Given the description of an element on the screen output the (x, y) to click on. 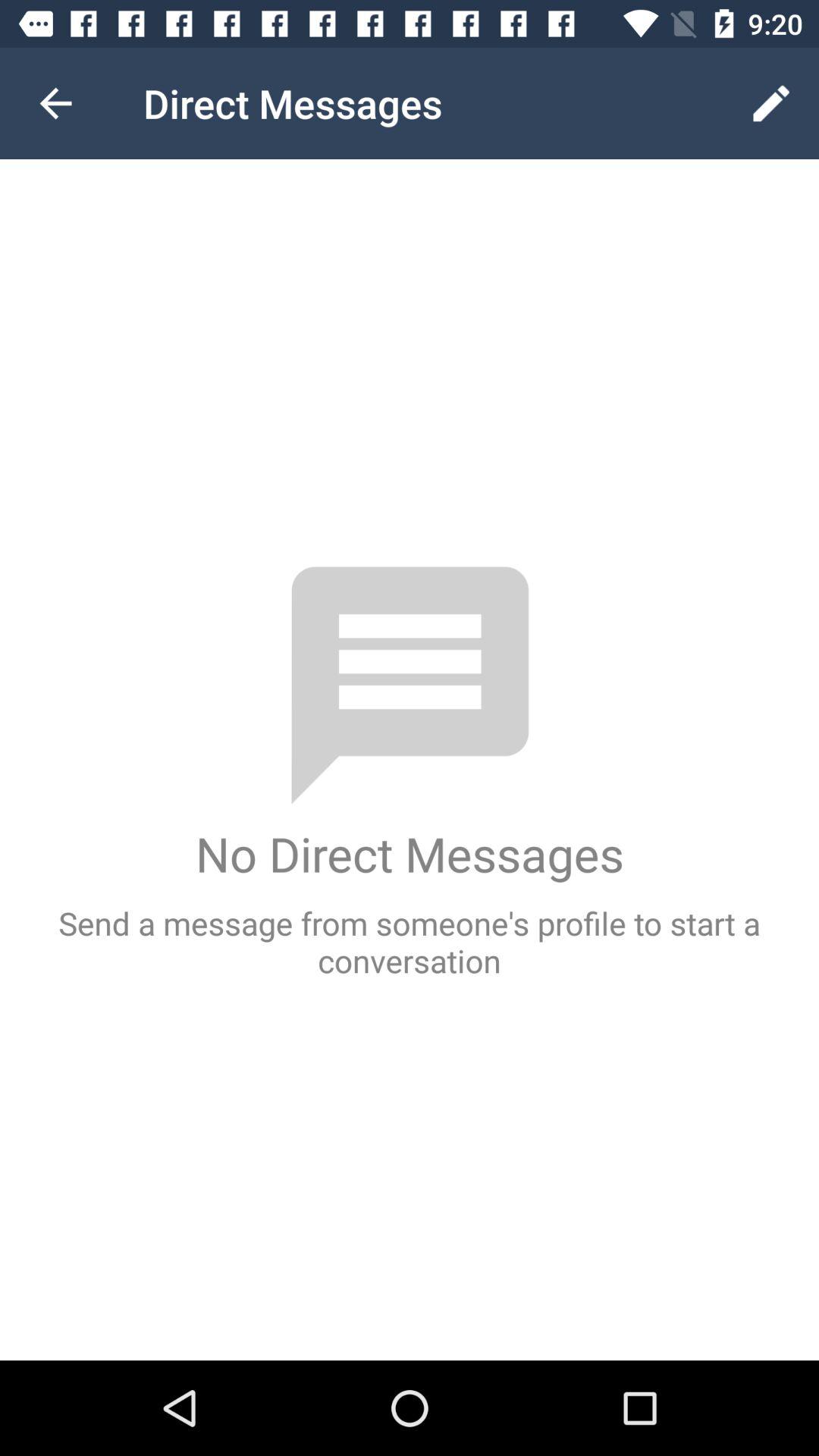
select item at the top right corner (771, 103)
